Given the description of an element on the screen output the (x, y) to click on. 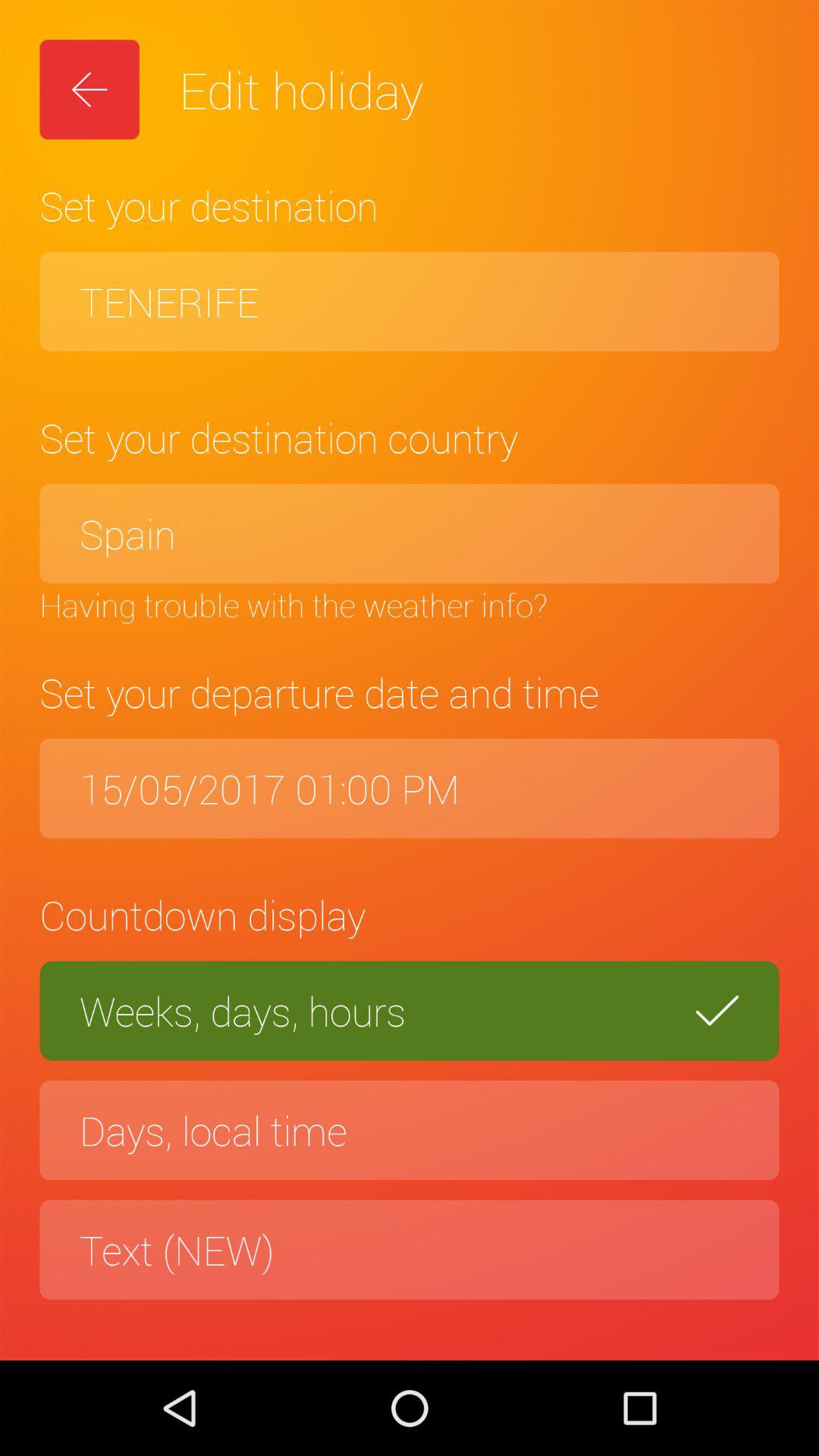
turn off item above the set your destination (409, 301)
